Given the description of an element on the screen output the (x, y) to click on. 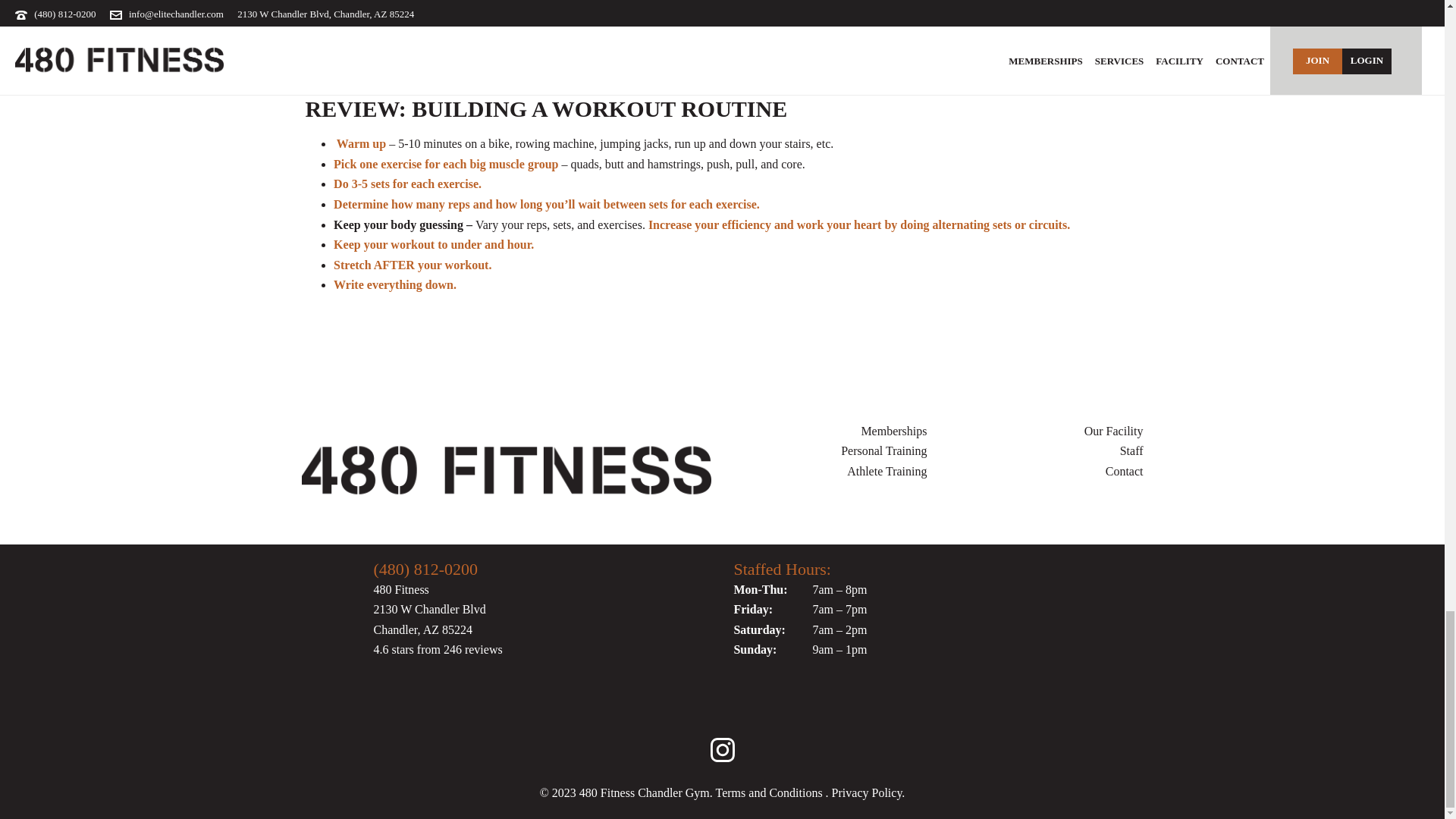
480-fitness-chandler-gym-logo (506, 472)
